Given the description of an element on the screen output the (x, y) to click on. 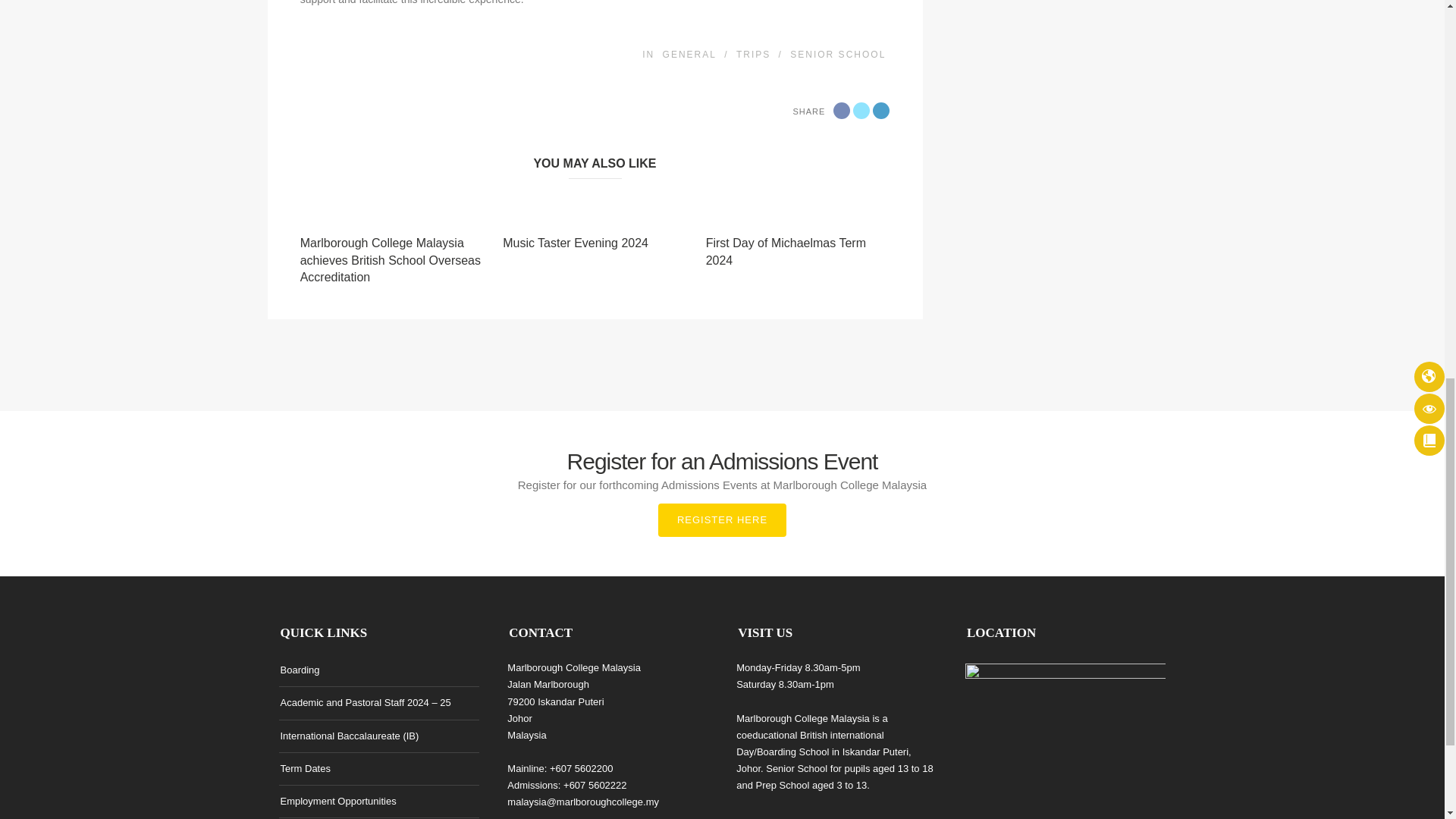
Twitter (861, 110)
LinkedIn (880, 110)
Facebook (841, 110)
